Given the description of an element on the screen output the (x, y) to click on. 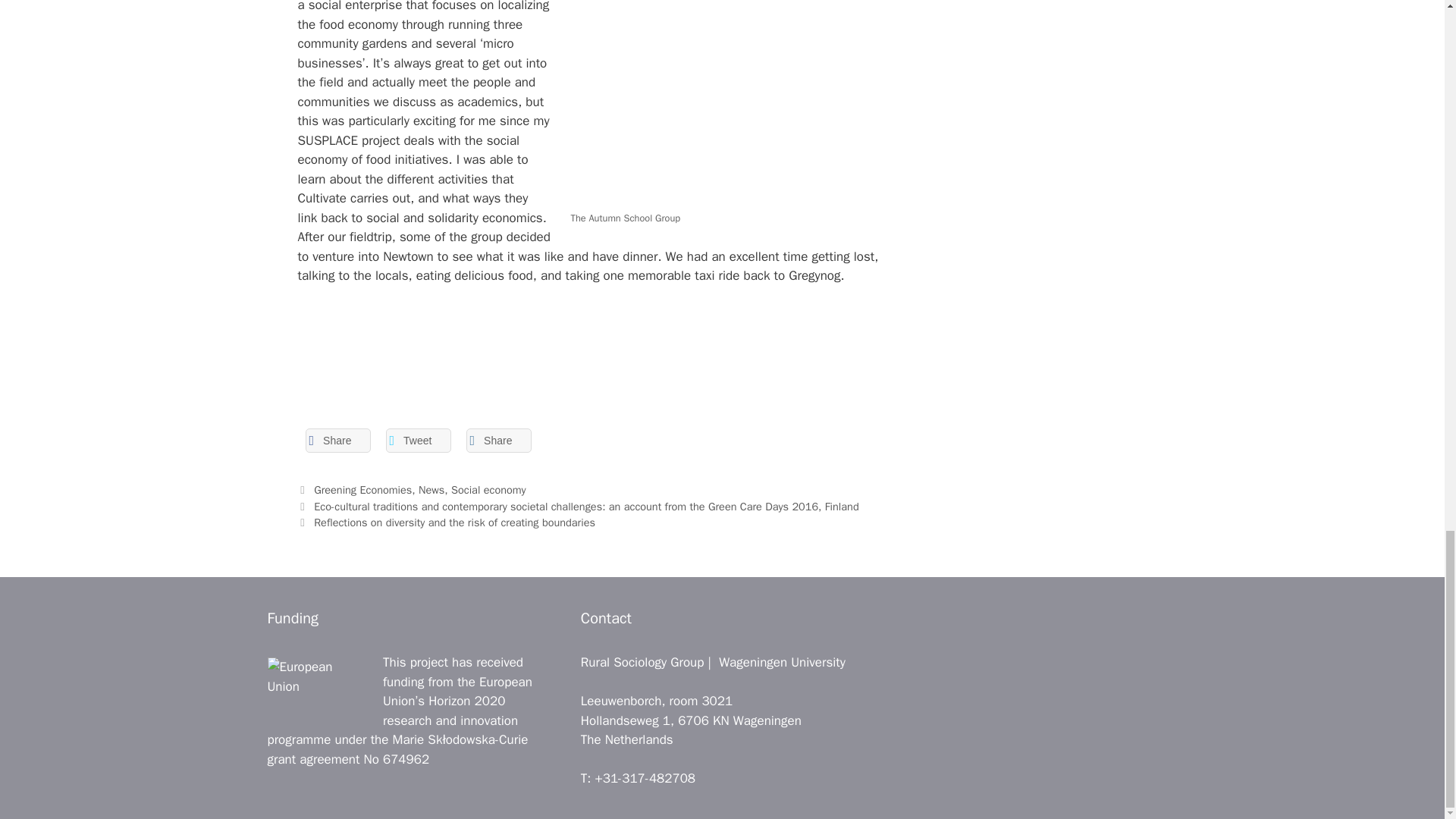
Share on LinkedIn (498, 440)
Share on Twitter (417, 440)
Share on Facebook (336, 440)
